Given the description of an element on the screen output the (x, y) to click on. 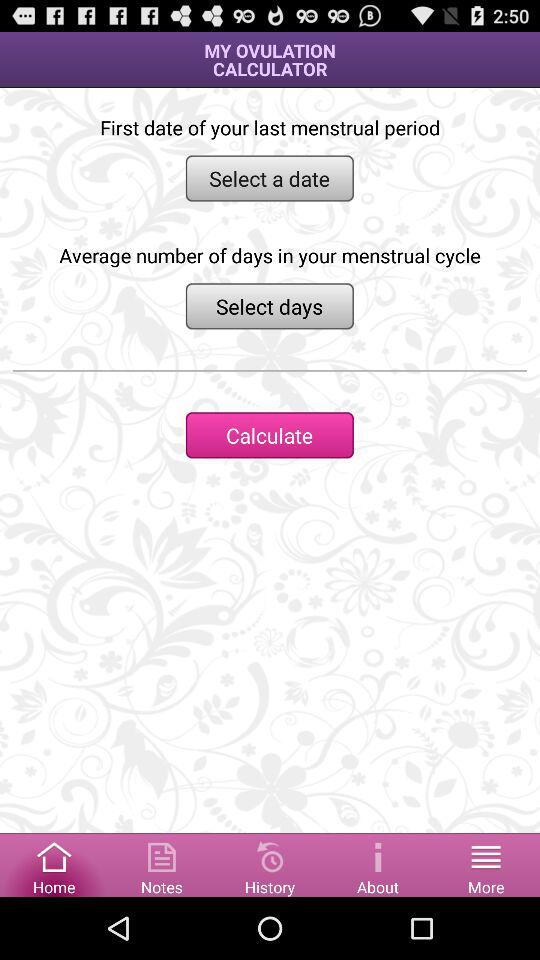
access information about app (378, 864)
